Given the description of an element on the screen output the (x, y) to click on. 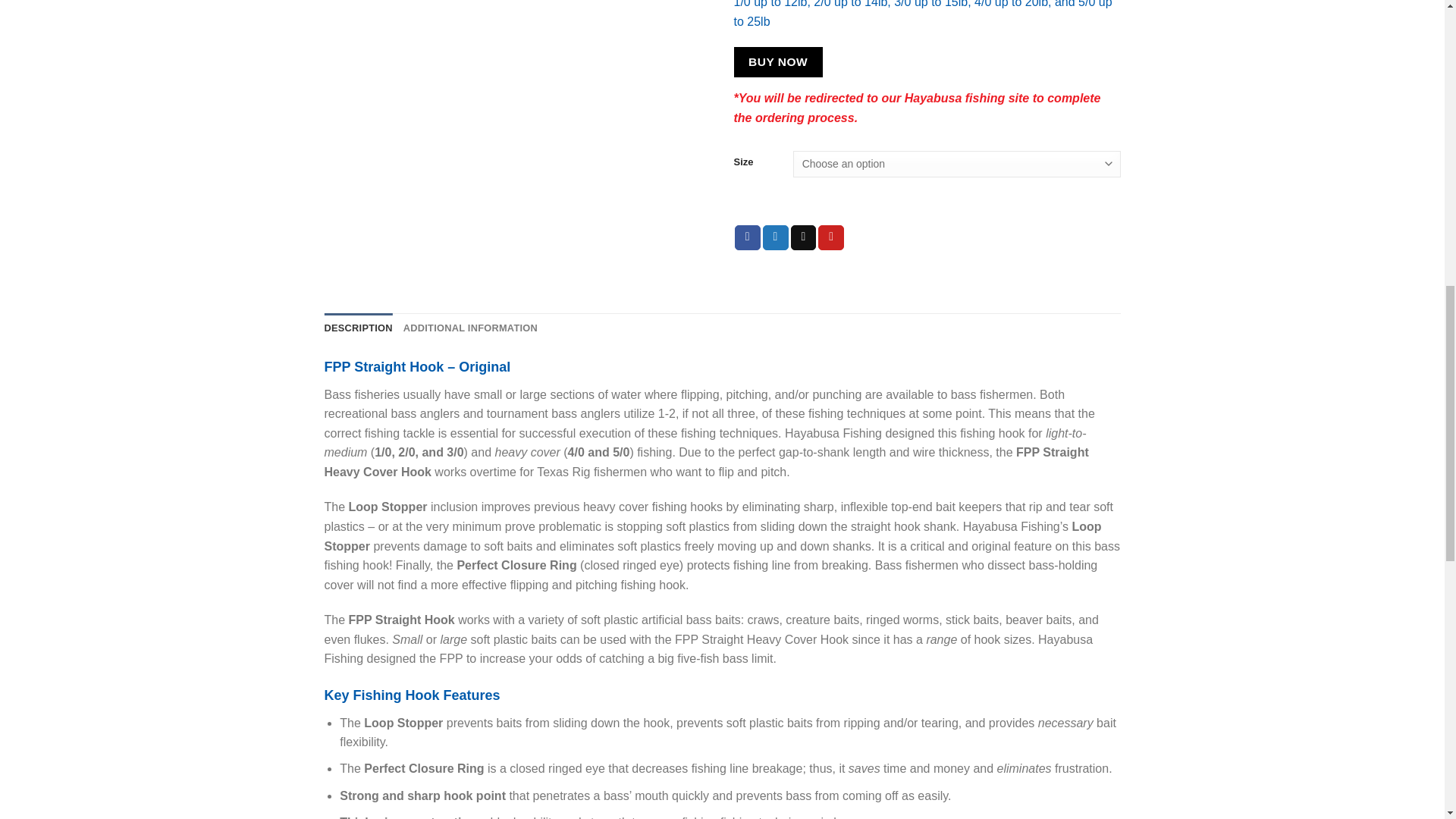
Email to a Friend (803, 237)
Share on Twitter (775, 237)
Share on Facebook (747, 237)
Pin on Pinterest (831, 237)
